Given the description of an element on the screen output the (x, y) to click on. 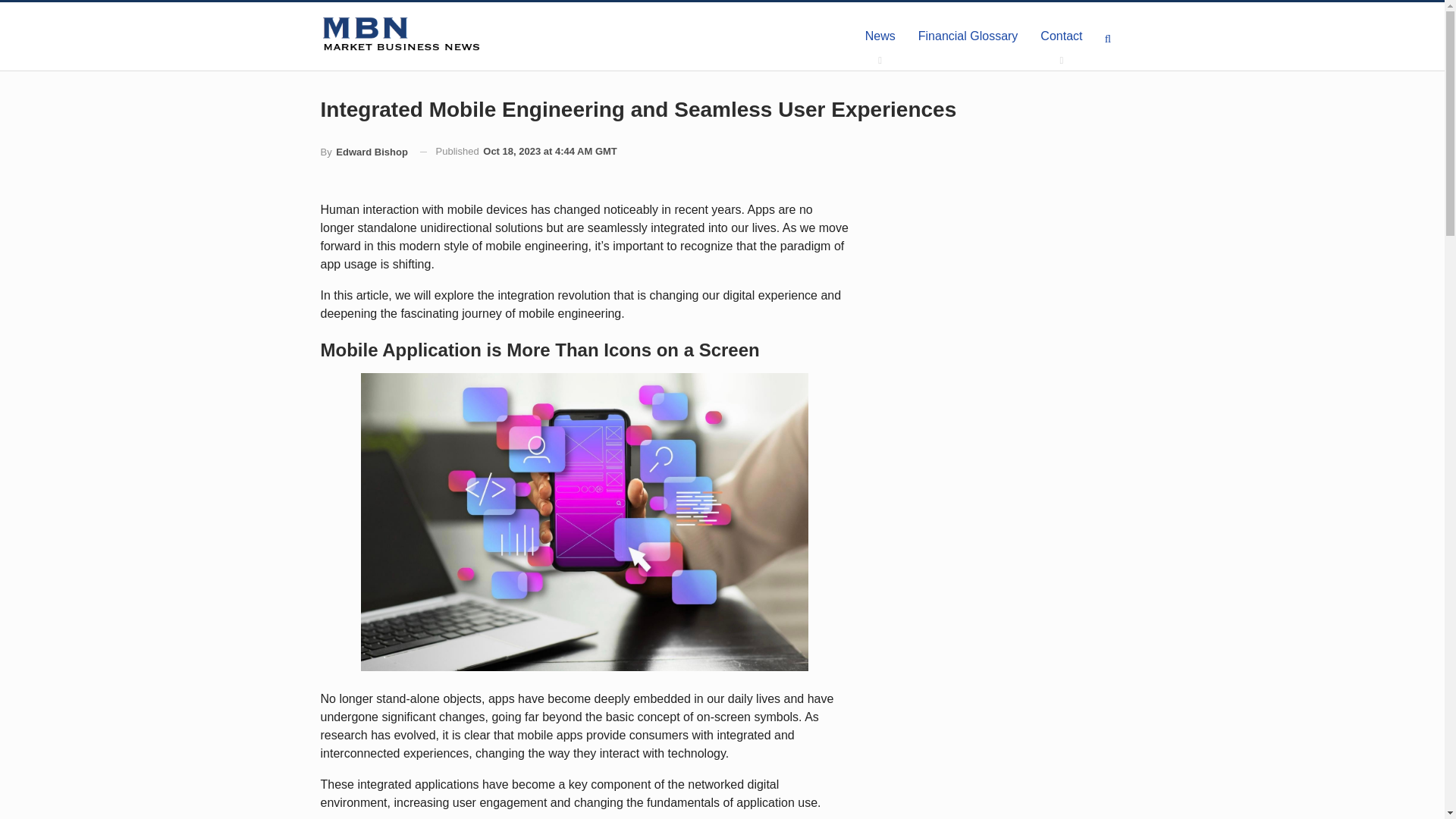
Contact (1061, 36)
Browse Author Articles (363, 152)
Financial Glossary (968, 36)
By Edward Bishop (363, 152)
